Given the description of an element on the screen output the (x, y) to click on. 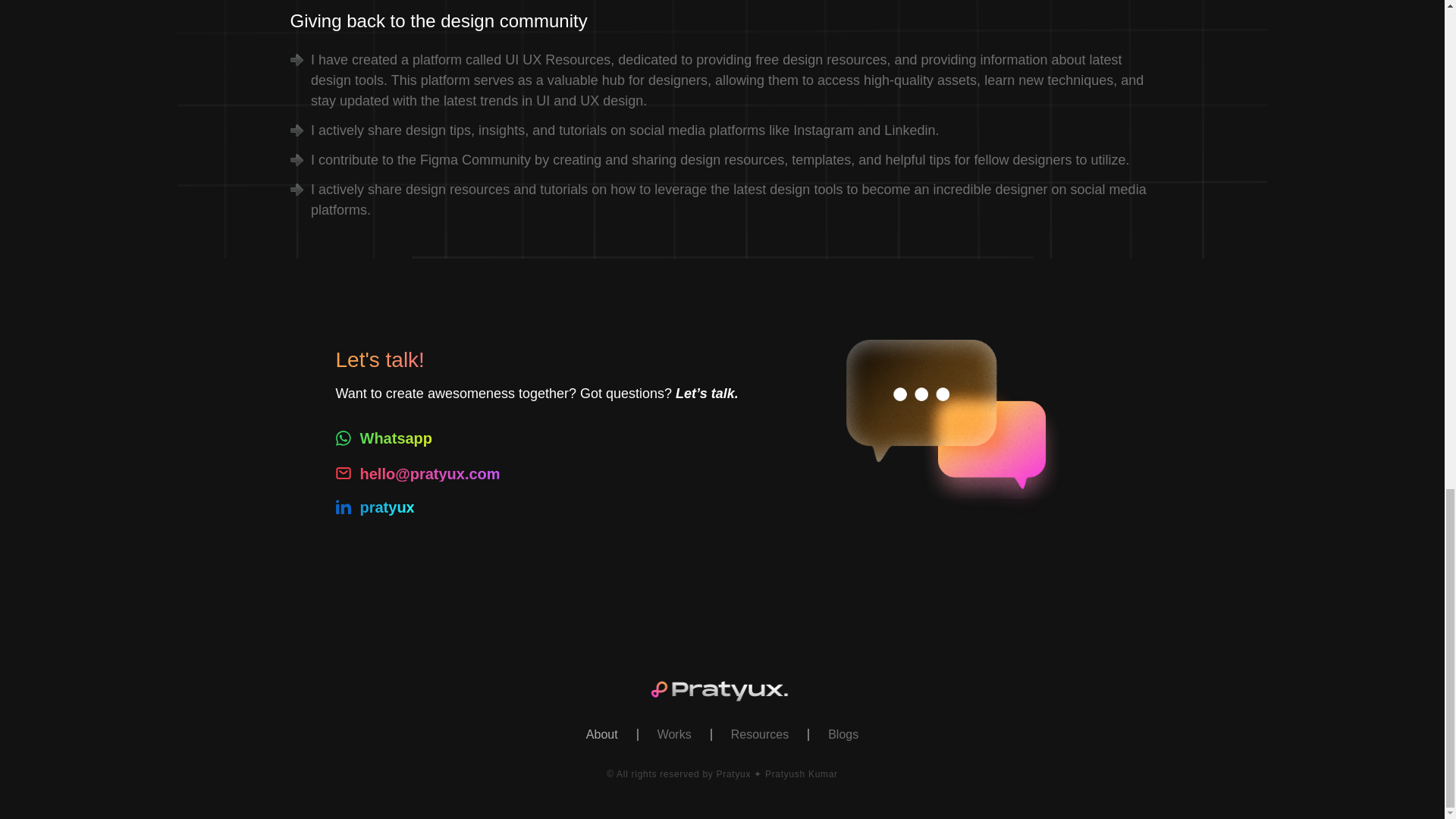
Whatsapp (383, 438)
pratyux (373, 507)
About (601, 734)
Resources (759, 734)
Works (674, 734)
